Given the description of an element on the screen output the (x, y) to click on. 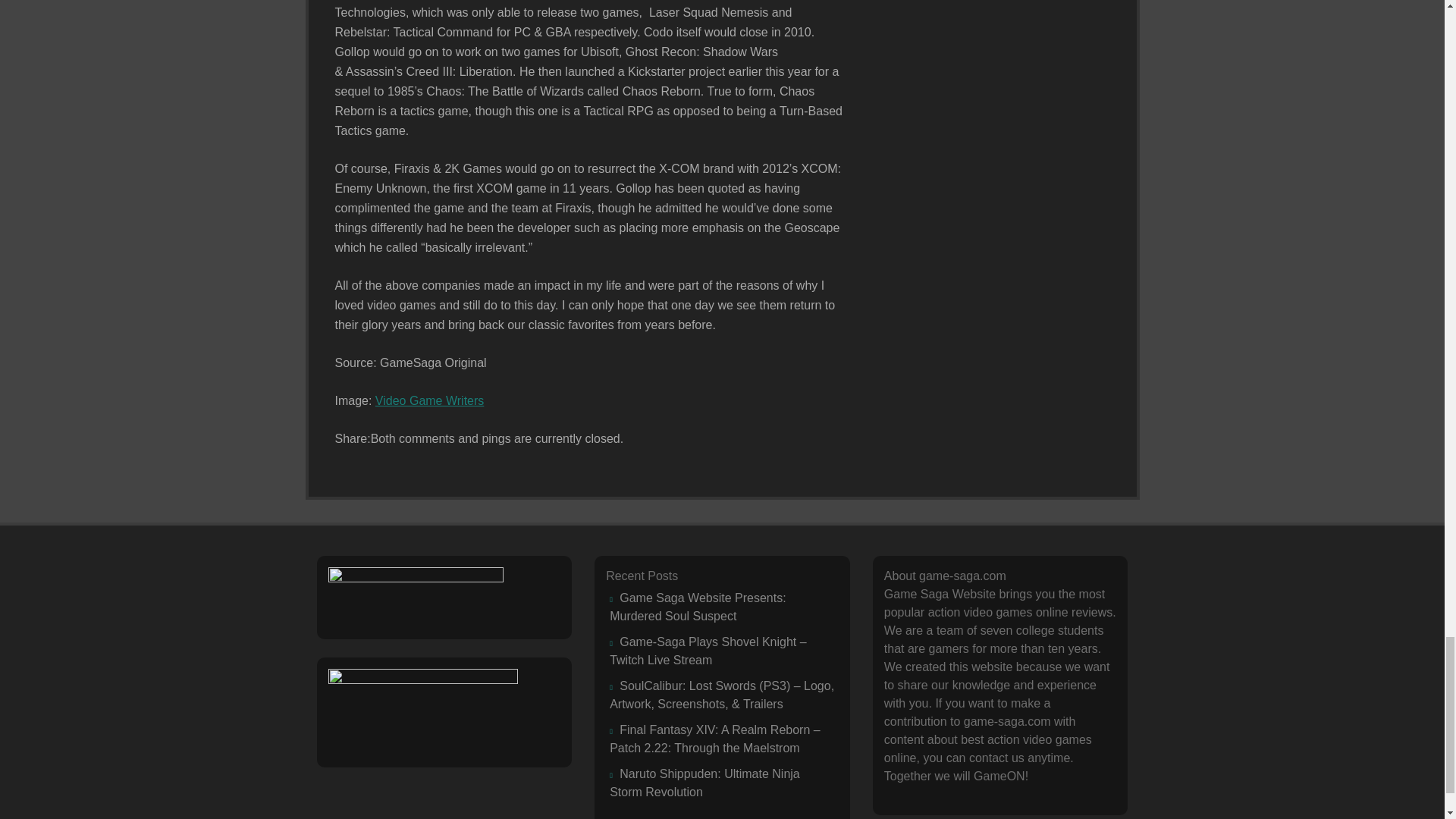
Video Game Writers (429, 400)
Naruto Shippuden: Ultimate Ninja Storm Revolution (704, 782)
Game Saga Website Presents: Murdered Soul Suspect (698, 606)
